Given the description of an element on the screen output the (x, y) to click on. 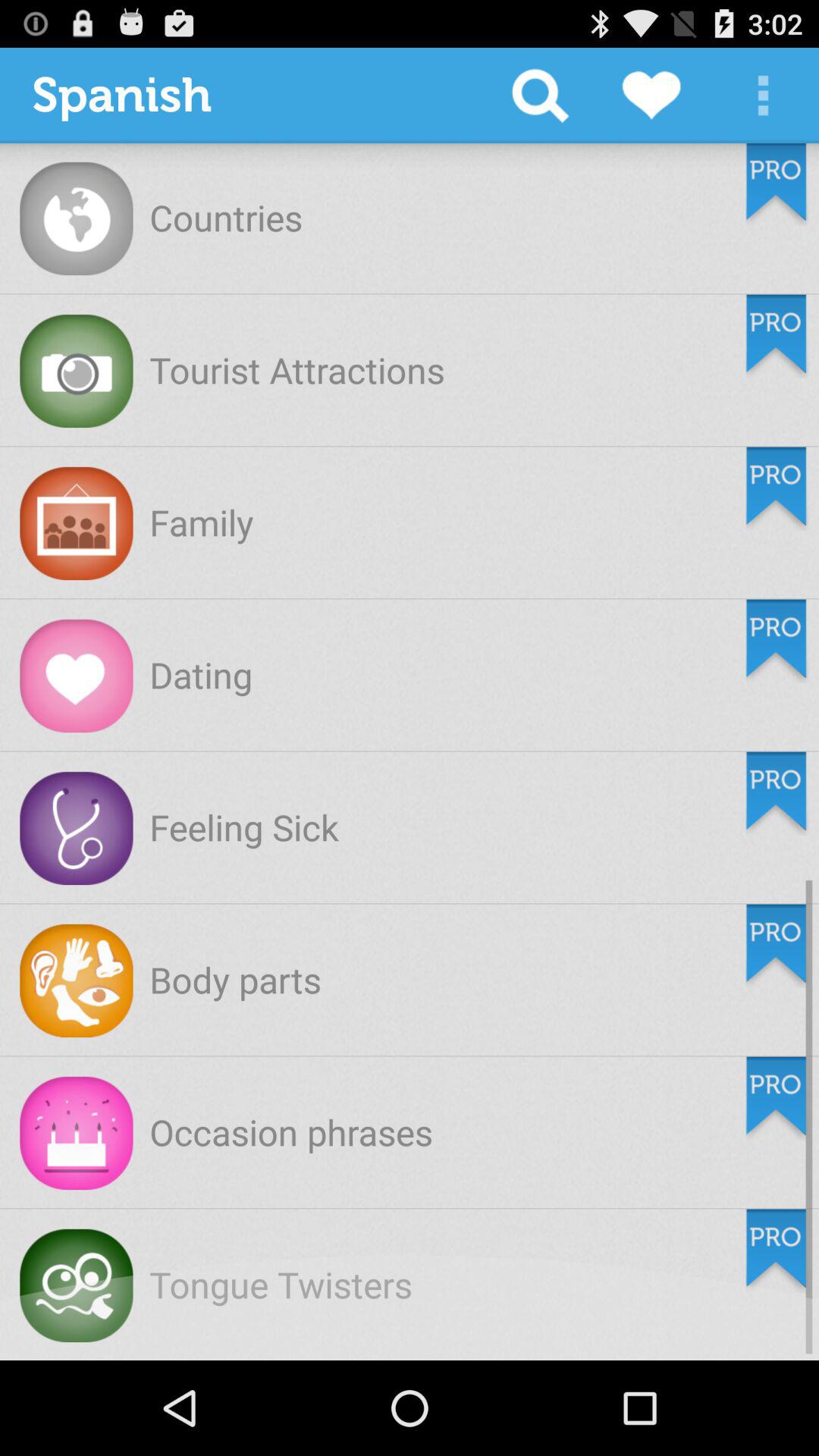
jump until family item (201, 522)
